Given the description of an element on the screen output the (x, y) to click on. 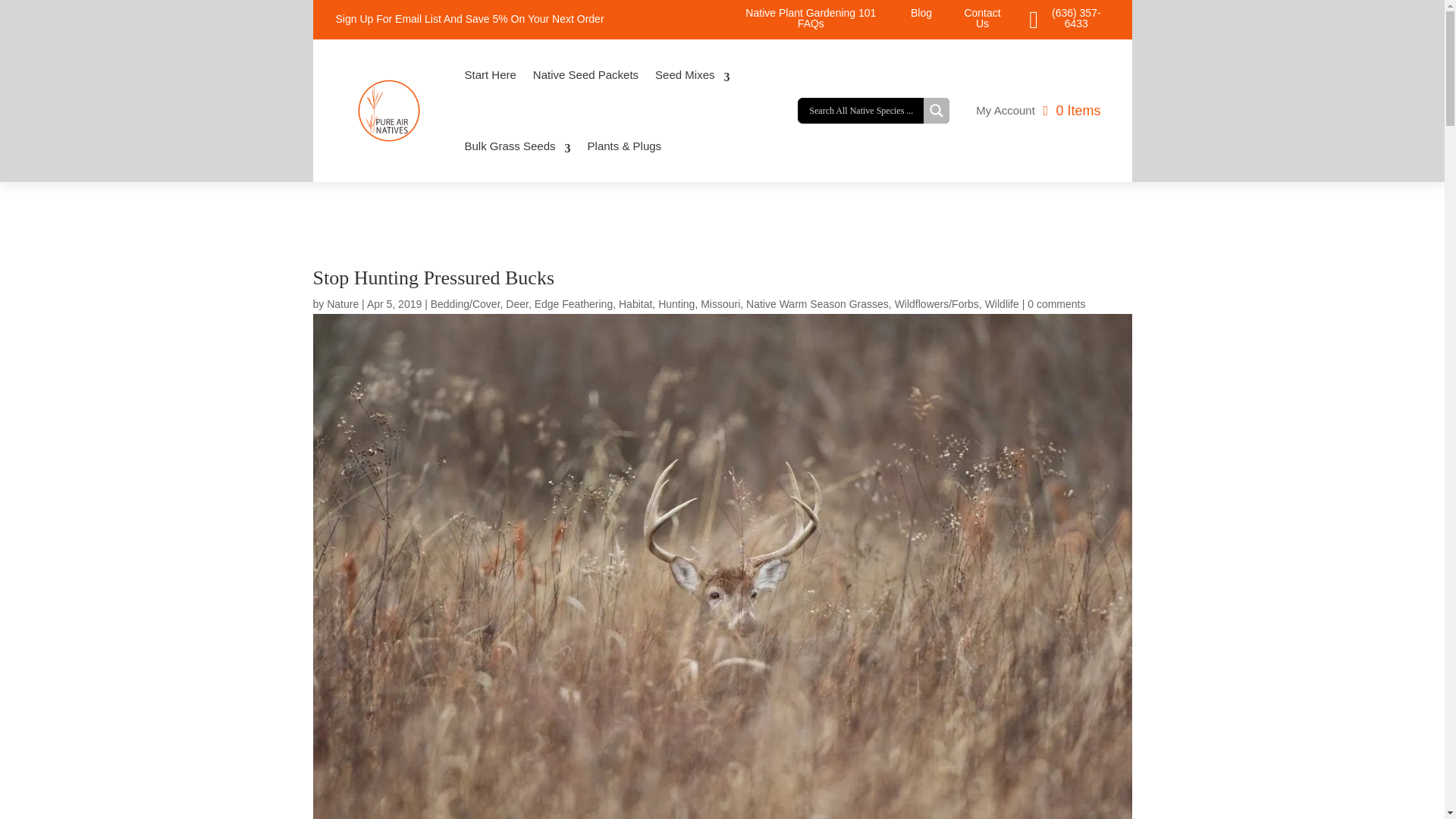
Start Here (489, 82)
Seed Mixes (692, 82)
Native Plant Gardening 101 FAQs (810, 17)
Native Seed Packets (585, 82)
Contact Us (981, 17)
Blog (921, 12)
Posts by Nature (342, 304)
Bulk Grass Seeds (517, 153)
